Given the description of an element on the screen output the (x, y) to click on. 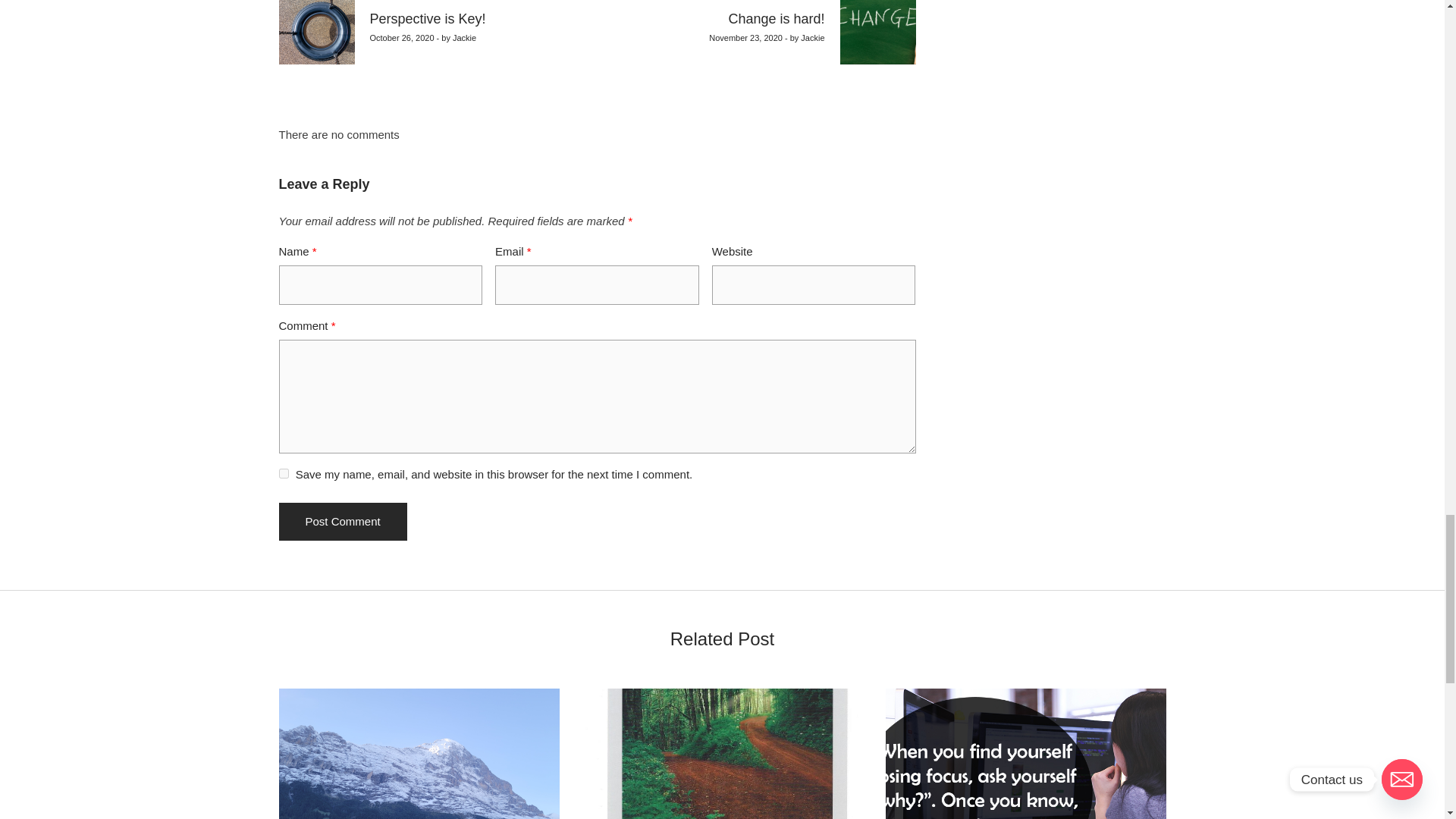
yes (283, 473)
Post Comment (343, 521)
